Given the description of an element on the screen output the (x, y) to click on. 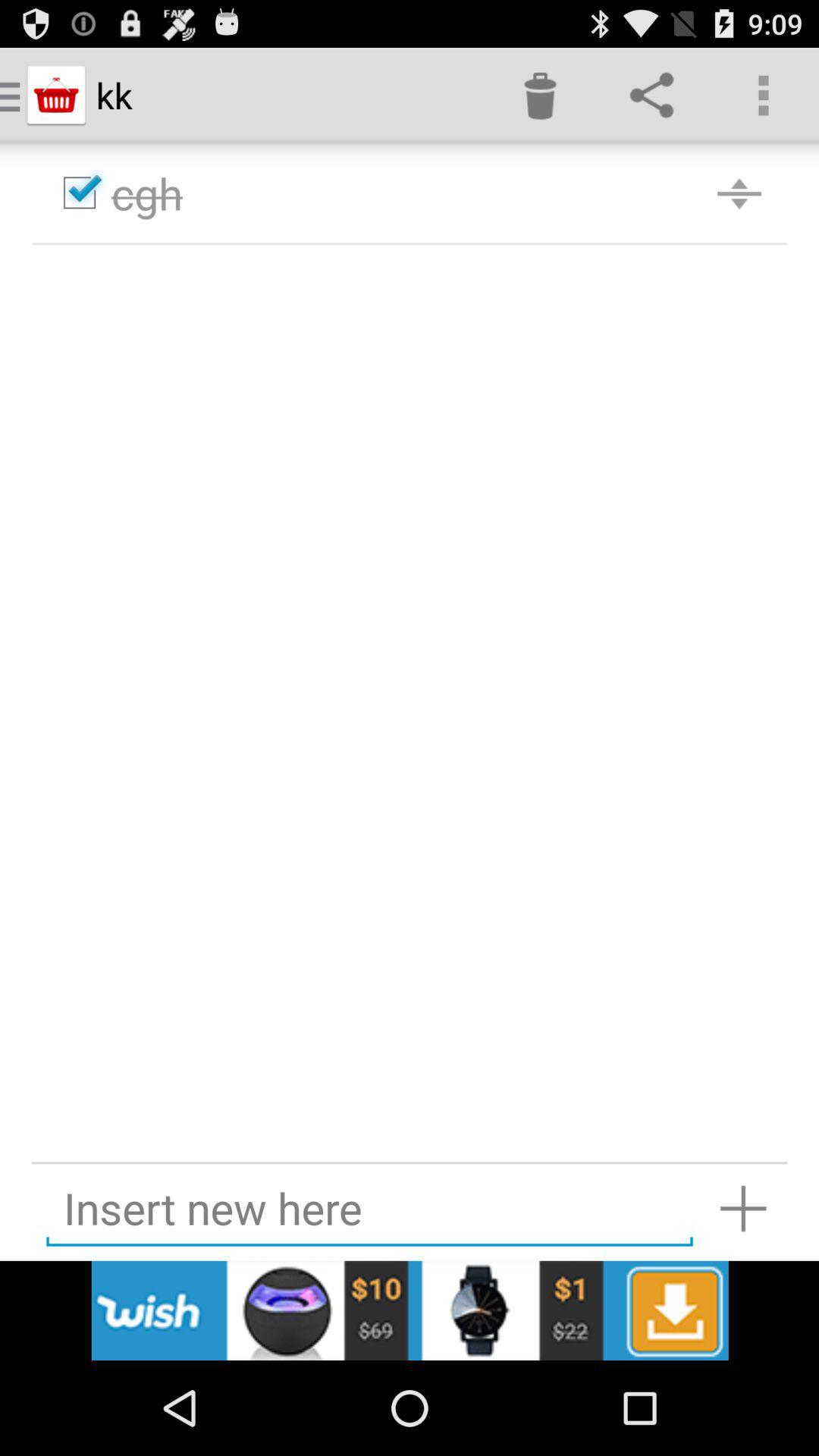
insert new (369, 1208)
